Given the description of an element on the screen output the (x, y) to click on. 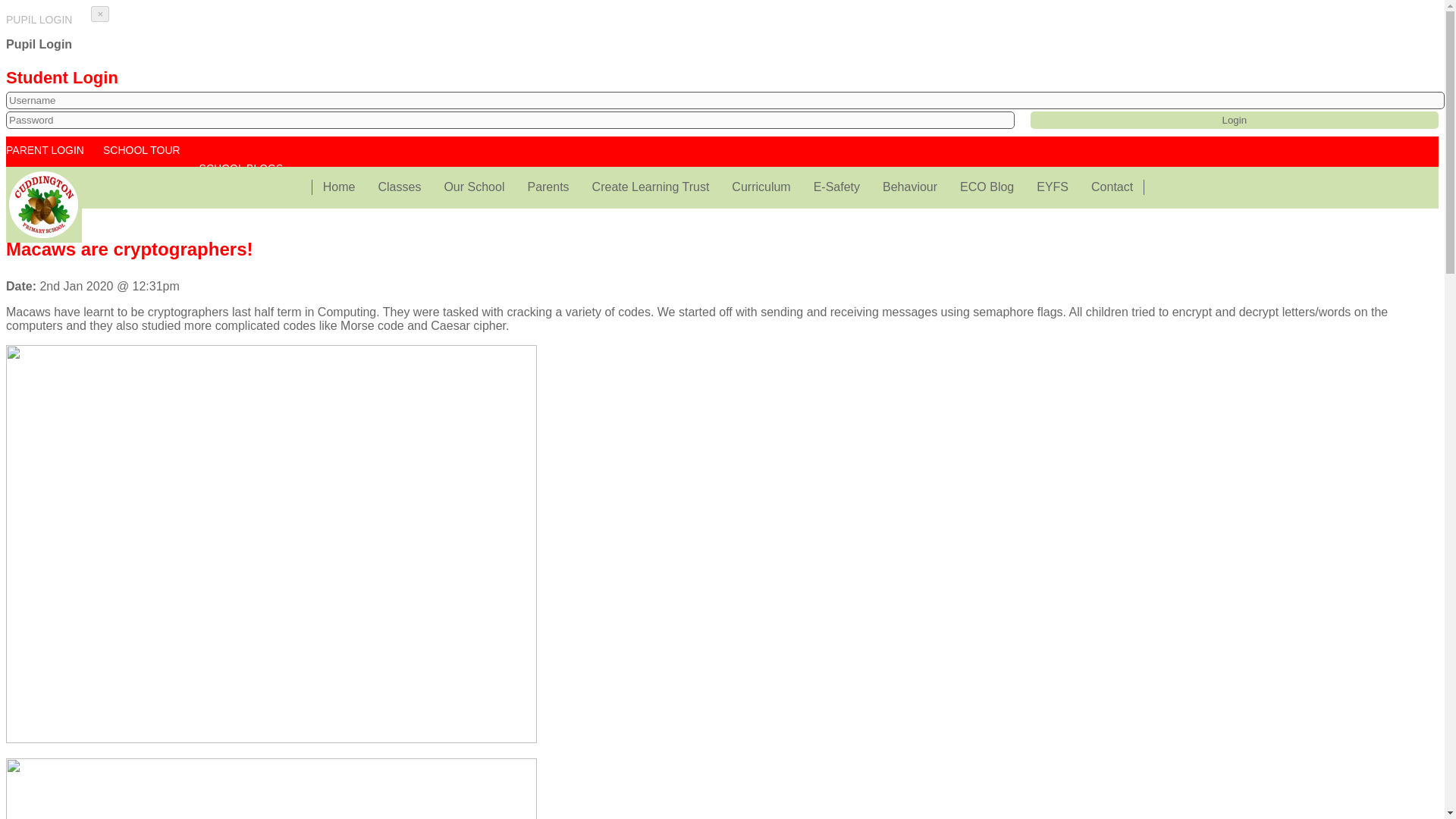
Classes (399, 187)
SCHOOL TOUR (145, 158)
PUPIL LOGIN (42, 19)
Our School (473, 187)
Home (338, 187)
SCHOOL BLOGS (245, 167)
PARENT LOGIN (48, 158)
